Given the description of an element on the screen output the (x, y) to click on. 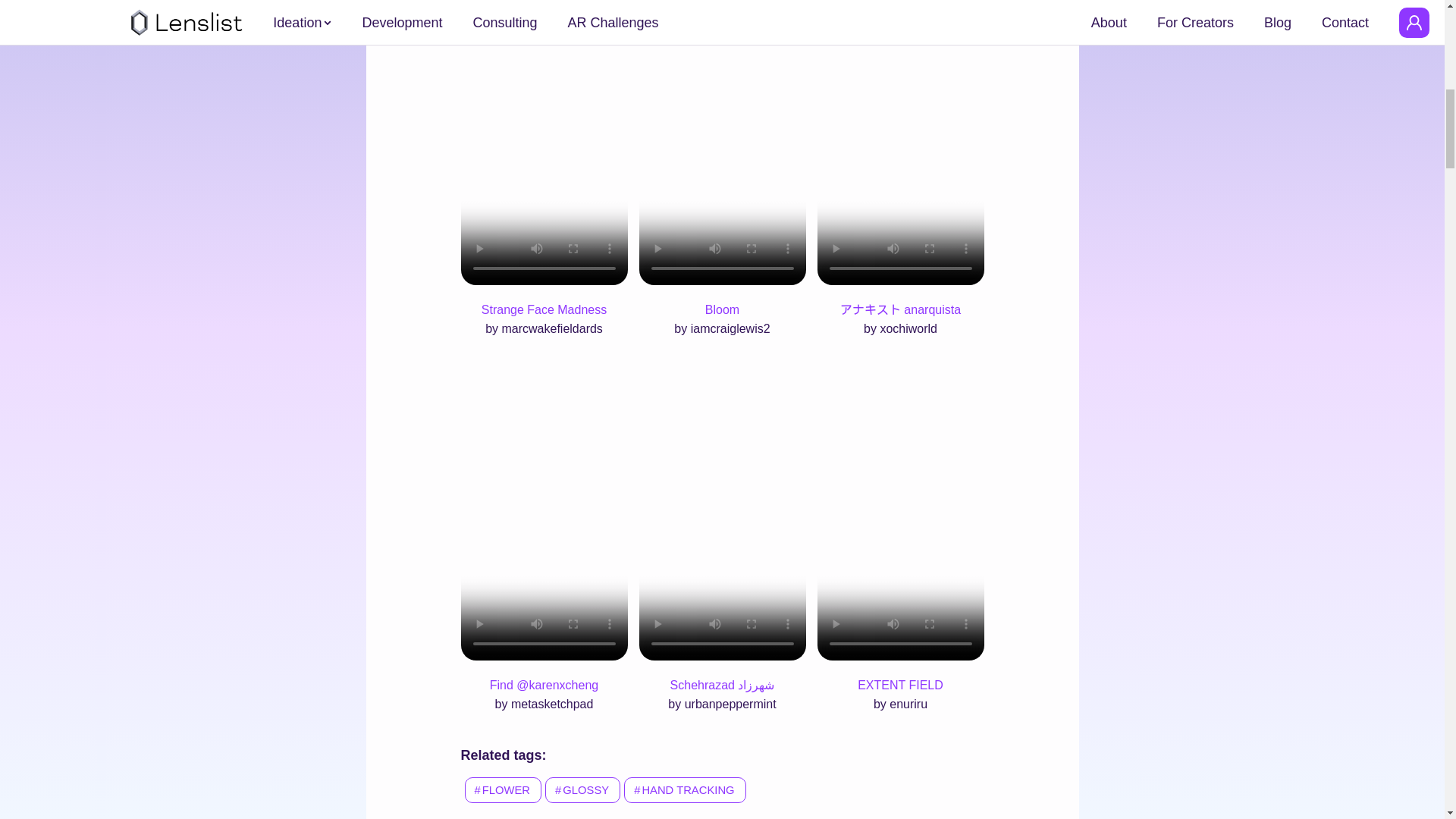
Strange Face Madness (544, 309)
GLOSSY (580, 798)
FLOWER (501, 798)
Bloom (721, 309)
EXTENT FIELD (900, 684)
HAND TRACKING (682, 798)
